Given the description of an element on the screen output the (x, y) to click on. 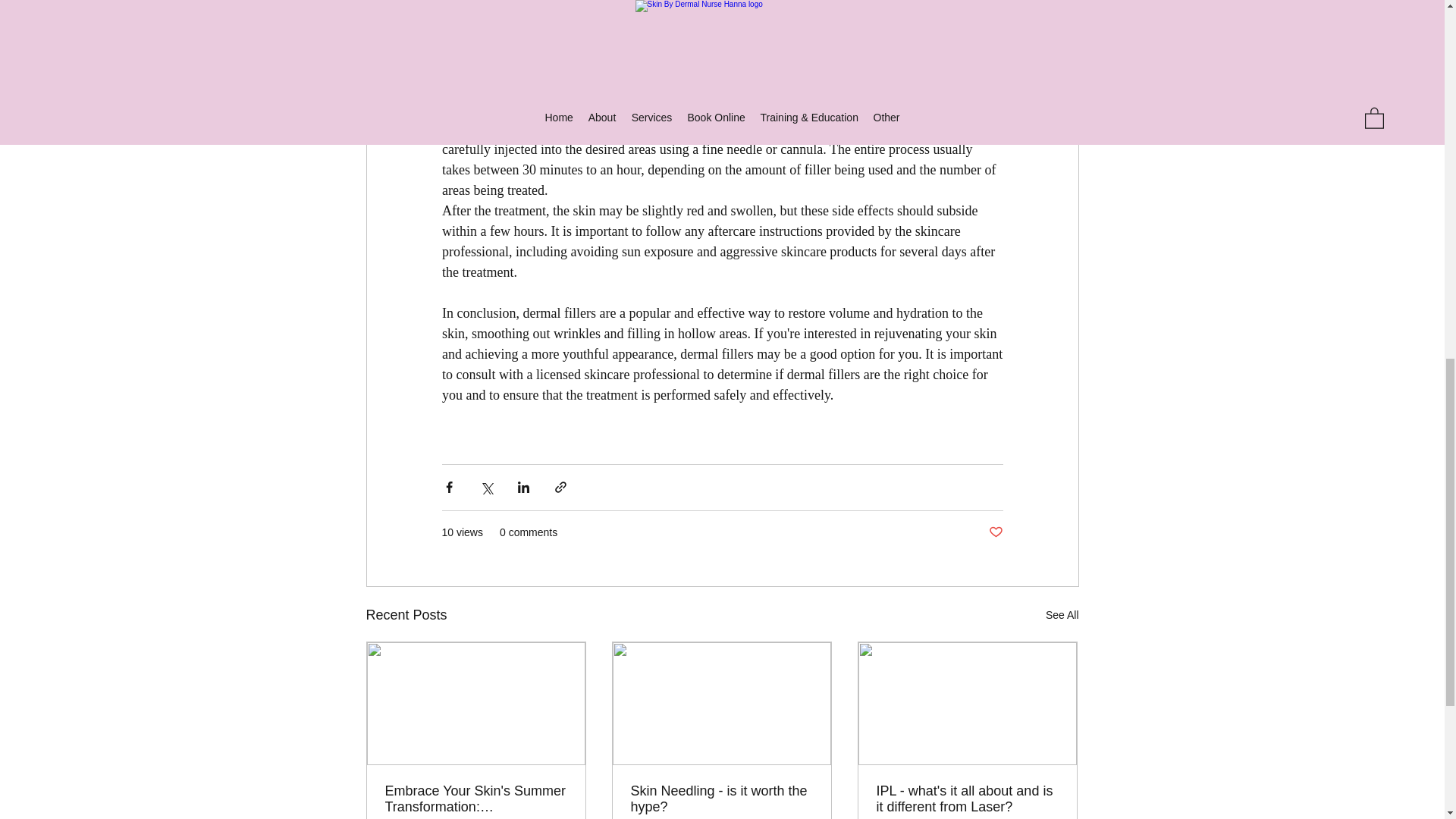
See All (1061, 615)
Post not marked as liked (995, 532)
Skin Needling - is it worth the hype? (721, 798)
IPL - what's it all about and is it different from Laser? (967, 798)
